Given the description of an element on the screen output the (x, y) to click on. 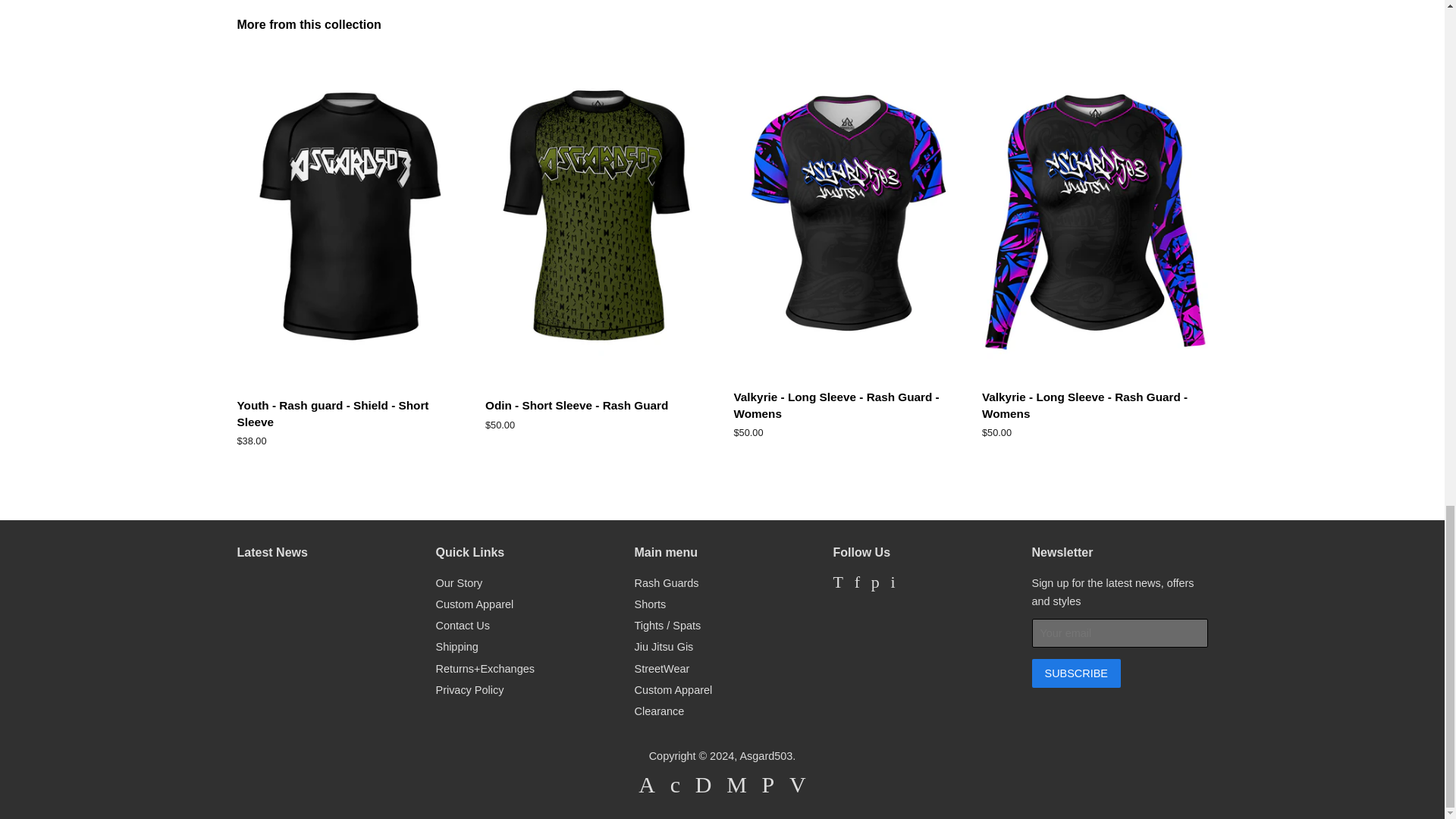
Subscribe (1074, 673)
